Given the description of an element on the screen output the (x, y) to click on. 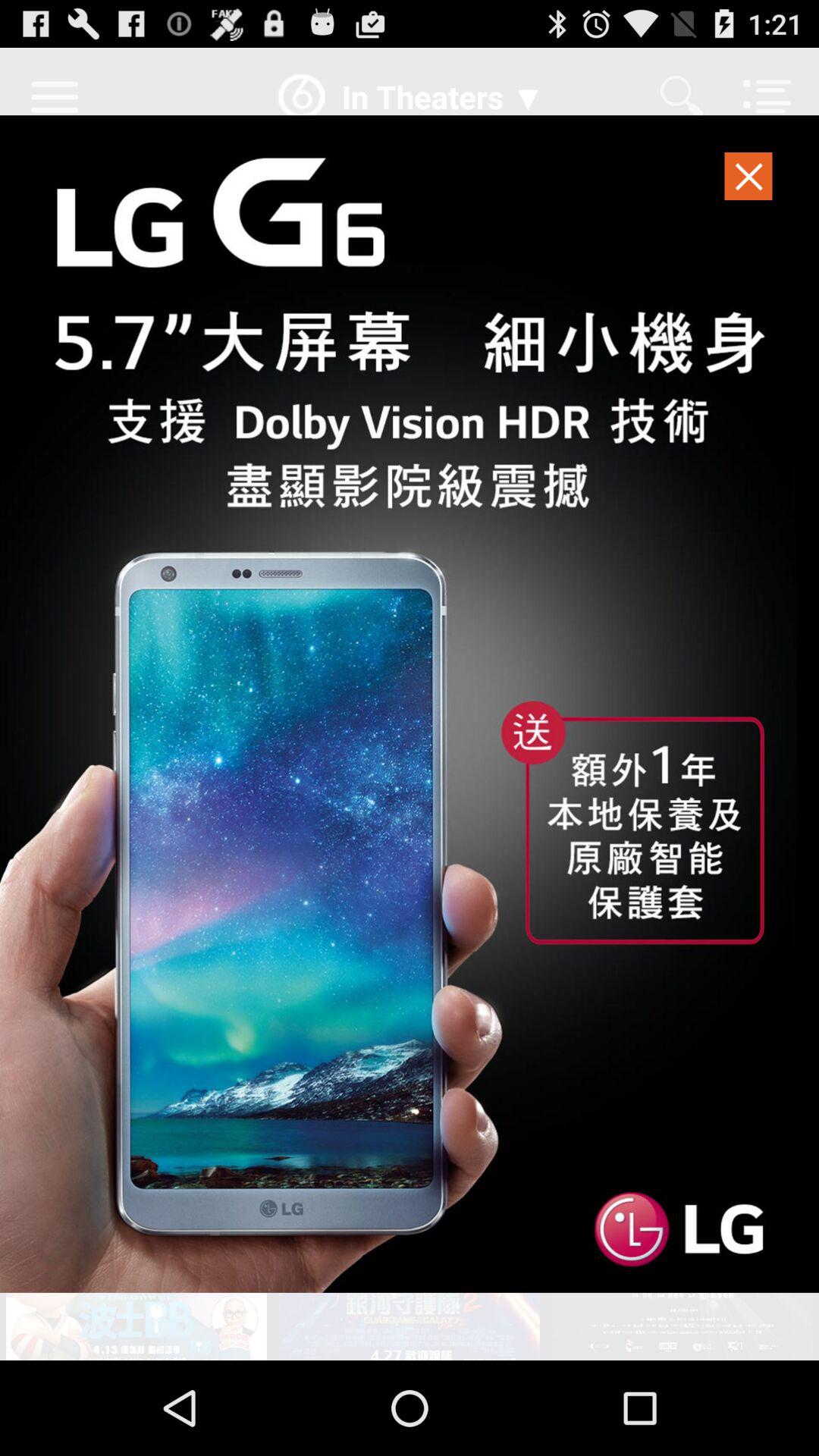
exit (749, 180)
